Given the description of an element on the screen output the (x, y) to click on. 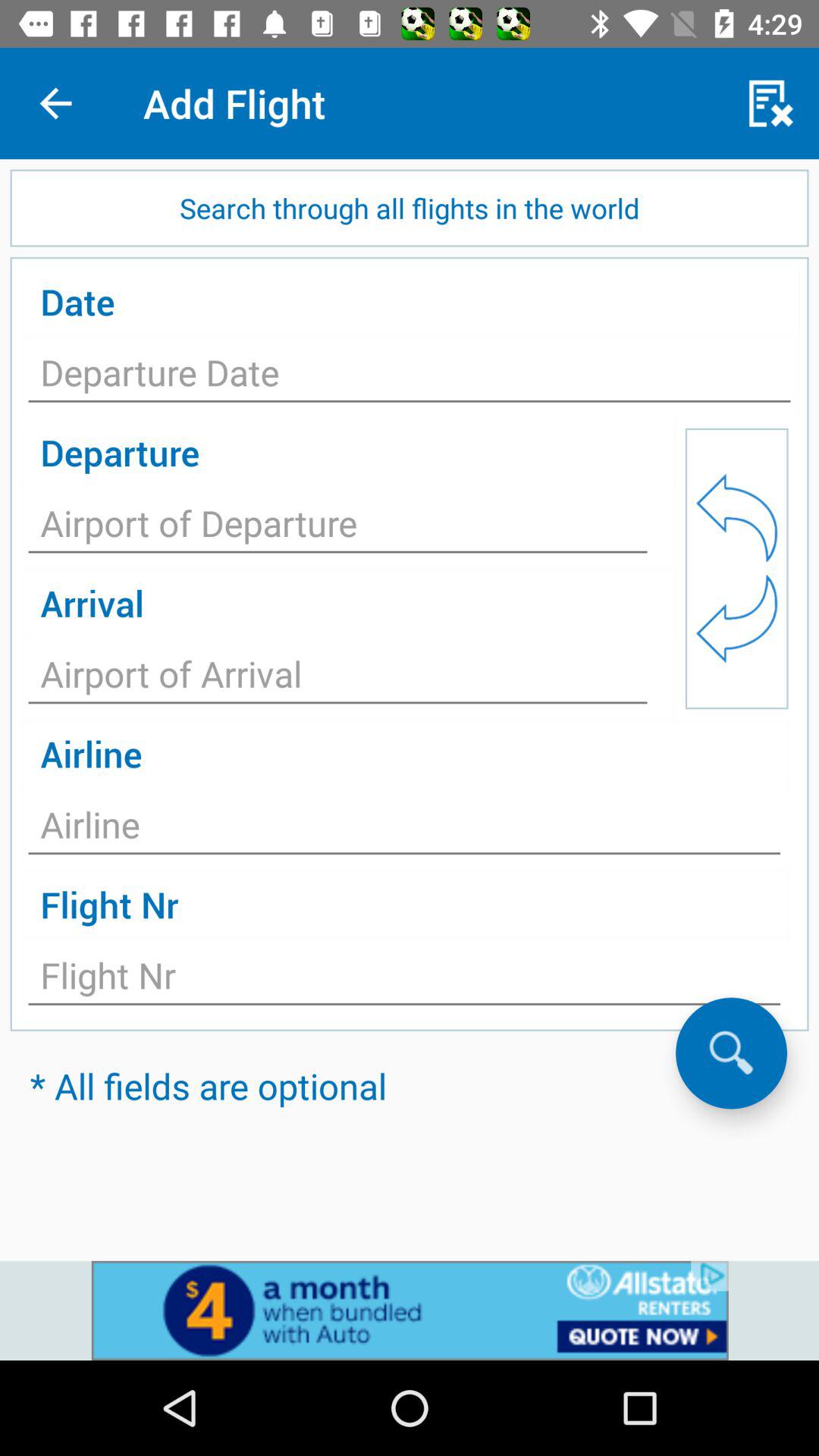
search (731, 1053)
